Given the description of an element on the screen output the (x, y) to click on. 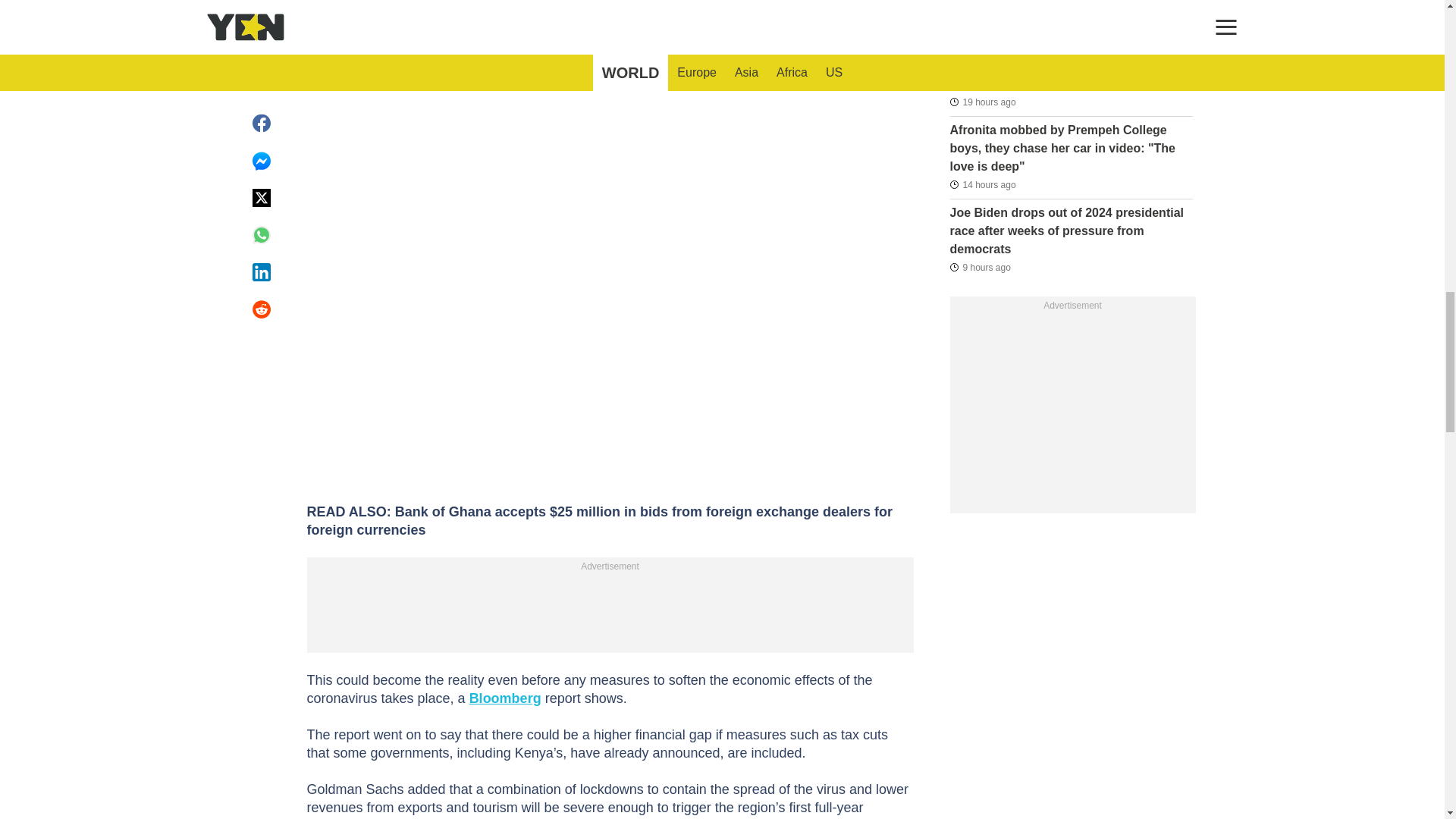
2024-07-21T20:47:29Z (979, 266)
2024-07-21T16:09:58Z (981, 185)
2024-07-21T06:55:25Z (981, 19)
2024-07-21T10:44:40Z (981, 101)
